Given the description of an element on the screen output the (x, y) to click on. 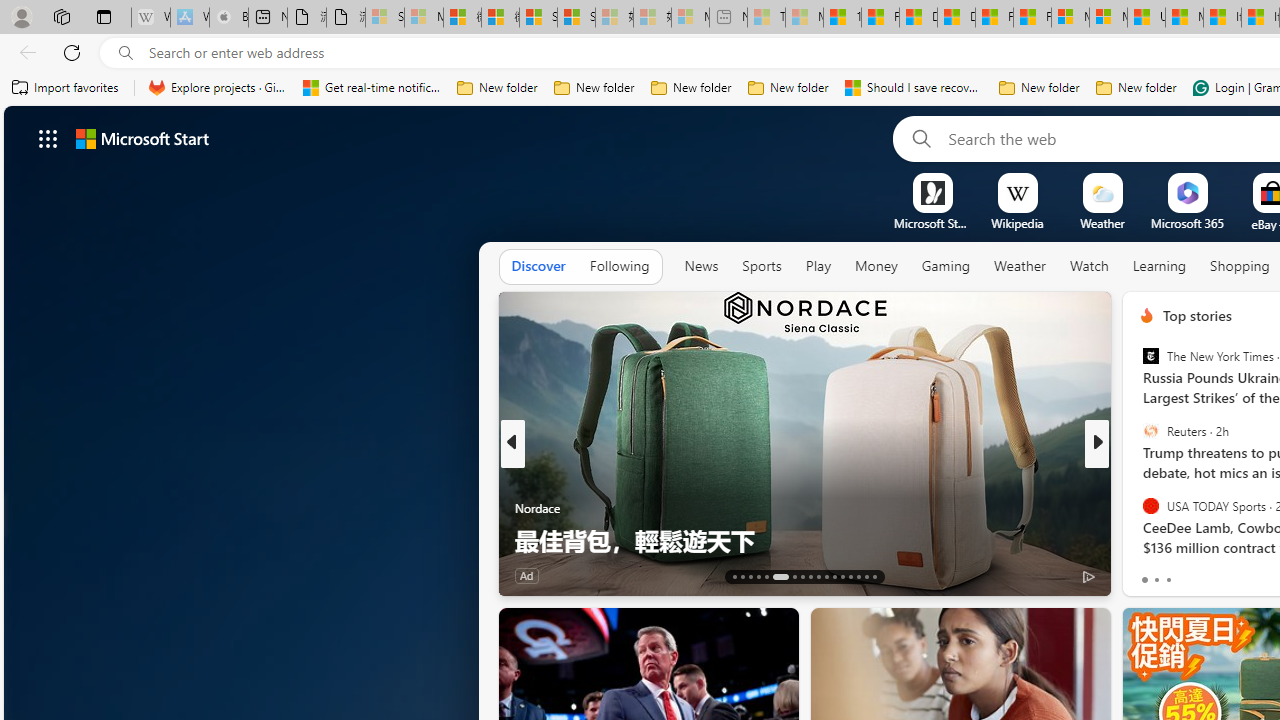
Microsoft Services Agreement - Sleeping (423, 17)
Search icon (125, 53)
AutomationID: tab-16 (757, 576)
View comments 460 Comment (1247, 574)
New folder (1136, 88)
House Beautiful (1138, 475)
AutomationID: tab-25 (842, 576)
Top Stories - MSN - Sleeping (765, 17)
Food and Drink - MSN (879, 17)
USA TODAY Sports (1149, 505)
Foo BAR | Trusted Community Engagement and Contributions (1031, 17)
AutomationID: tab-22 (818, 576)
